Given the description of an element on the screen output the (x, y) to click on. 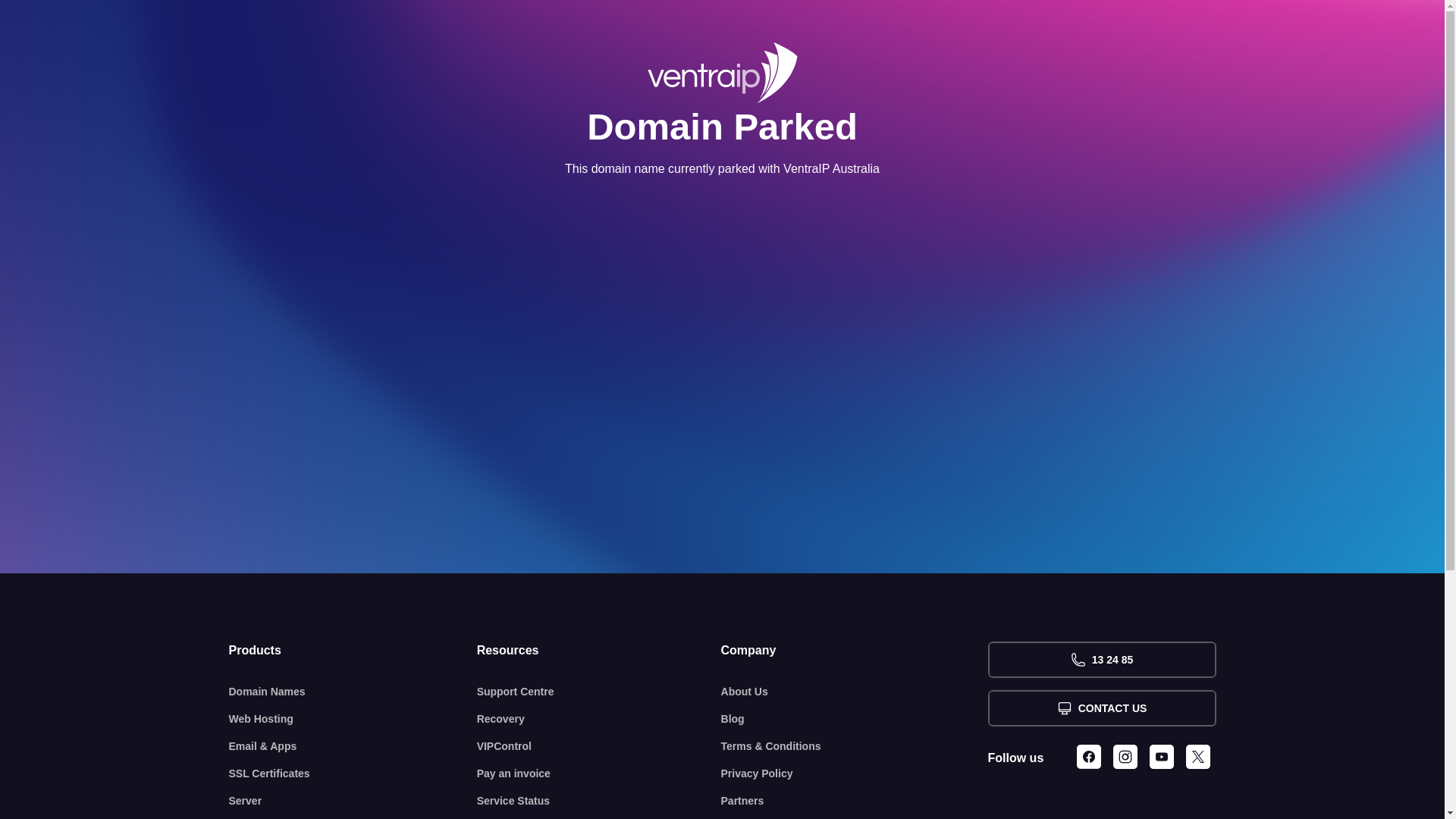
Web Hosting Element type: text (352, 718)
Domain Names Element type: text (352, 691)
Pay an invoice Element type: text (598, 773)
VIPControl Element type: text (598, 745)
Partners Element type: text (854, 800)
Privacy Policy Element type: text (854, 773)
Terms & Conditions Element type: text (854, 745)
Service Status Element type: text (598, 800)
Blog Element type: text (854, 718)
Support Centre Element type: text (598, 691)
CONTACT US Element type: text (1101, 708)
About Us Element type: text (854, 691)
Recovery Element type: text (598, 718)
Server Element type: text (352, 800)
SSL Certificates Element type: text (352, 773)
Email & Apps Element type: text (352, 745)
13 24 85 Element type: text (1101, 659)
